Given the description of an element on the screen output the (x, y) to click on. 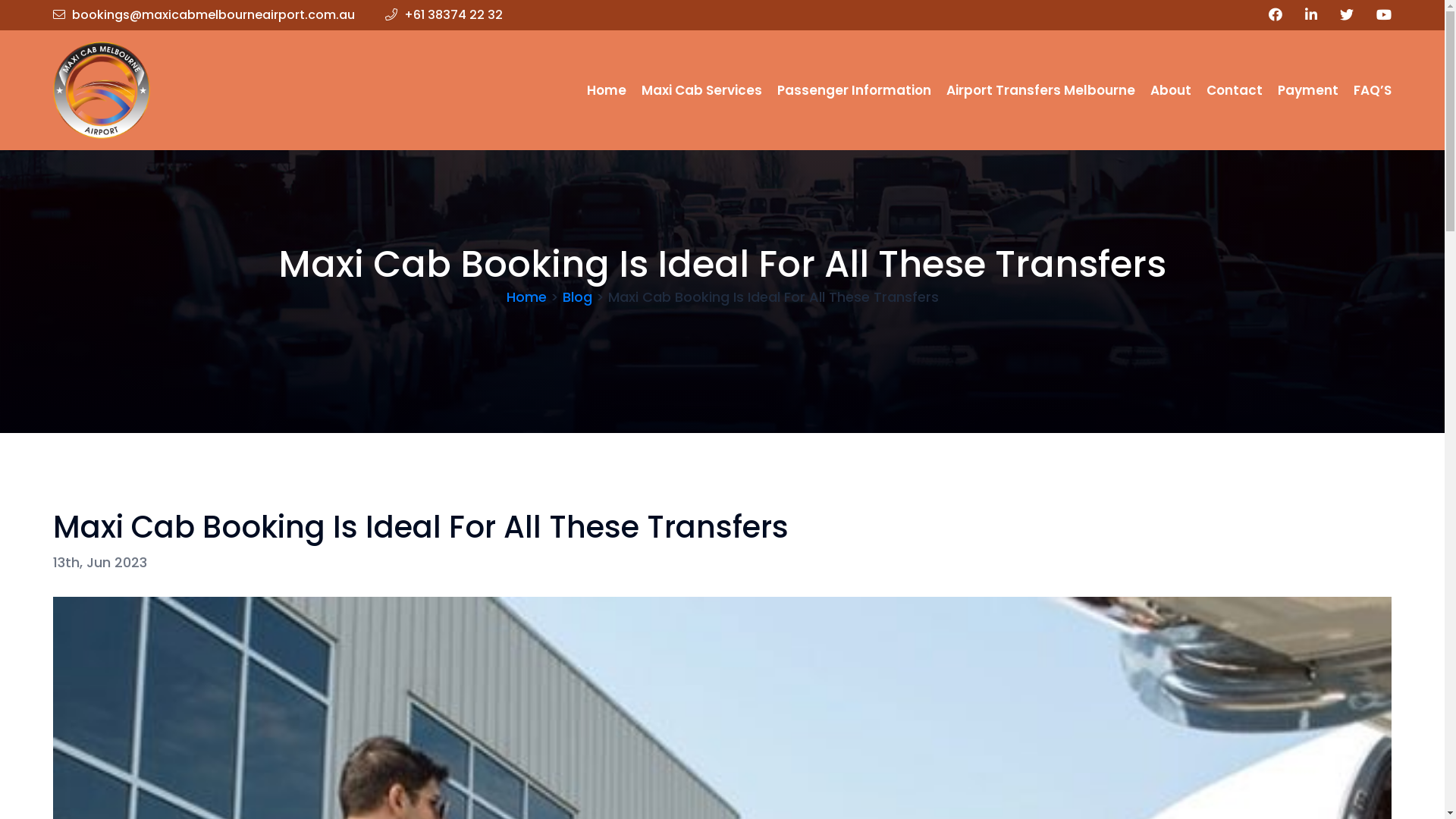
bookings@maxicabmelbourneairport.com.au Element type: text (203, 15)
Home Element type: text (526, 296)
Passenger Information Element type: text (854, 90)
About Element type: text (1170, 90)
Blog Element type: text (577, 296)
Maxi Cab Services Element type: text (701, 90)
+61 38374 22 32 Element type: text (443, 15)
Airport Transfers Melbourne Element type: text (1040, 90)
Home Element type: text (606, 90)
Payment Element type: text (1307, 90)
Contact Element type: text (1234, 90)
